Given the description of an element on the screen output the (x, y) to click on. 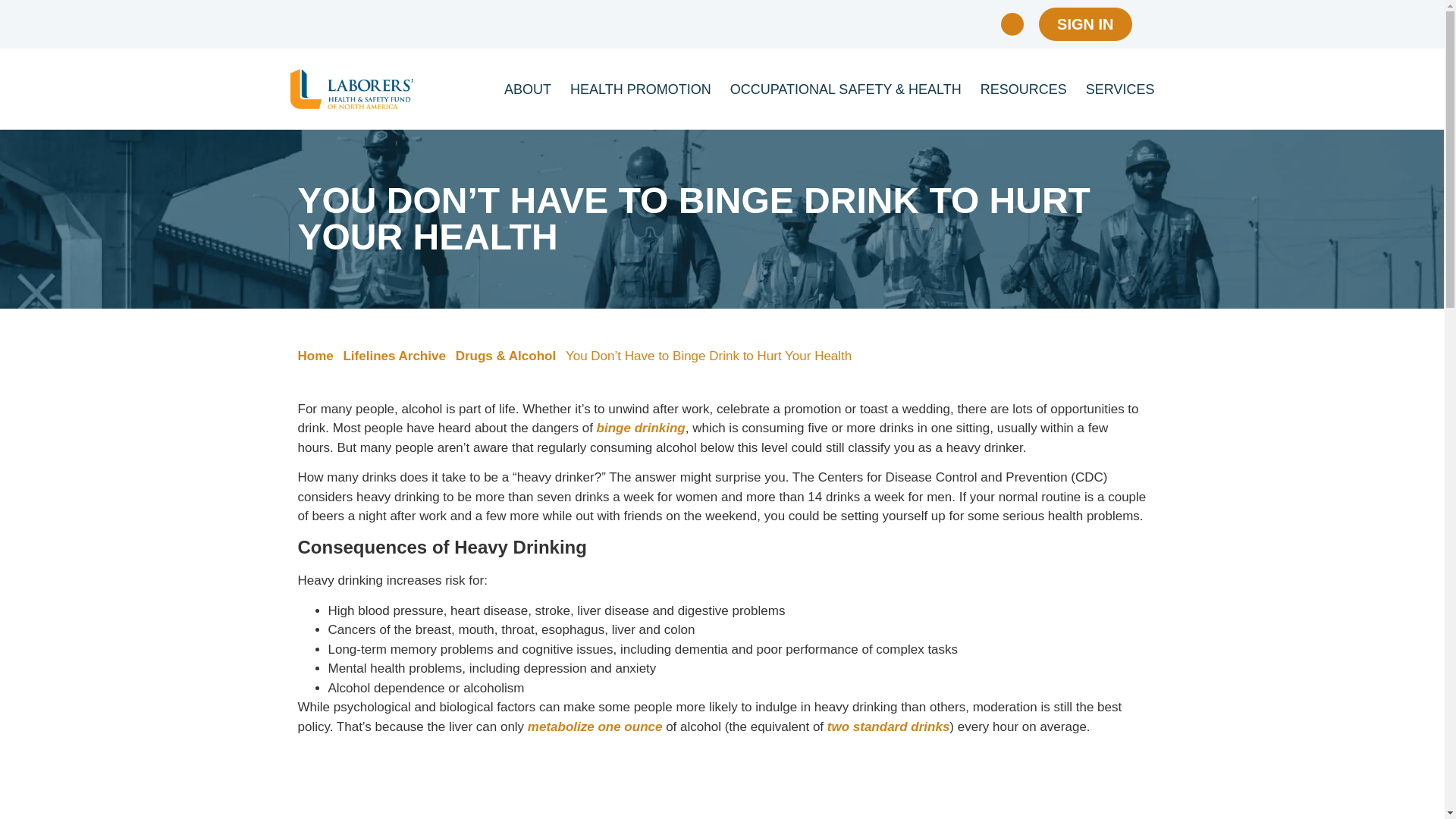
Home (315, 355)
metabolize one ounce (594, 726)
SIGN IN (1085, 23)
Lifelines Archive (393, 355)
two standard drinks (888, 726)
ABOUT (527, 88)
HEALTH PROMOTION (640, 88)
RESOURCES (1023, 88)
binge drinking (640, 427)
SERVICES (1120, 88)
